Given the description of an element on the screen output the (x, y) to click on. 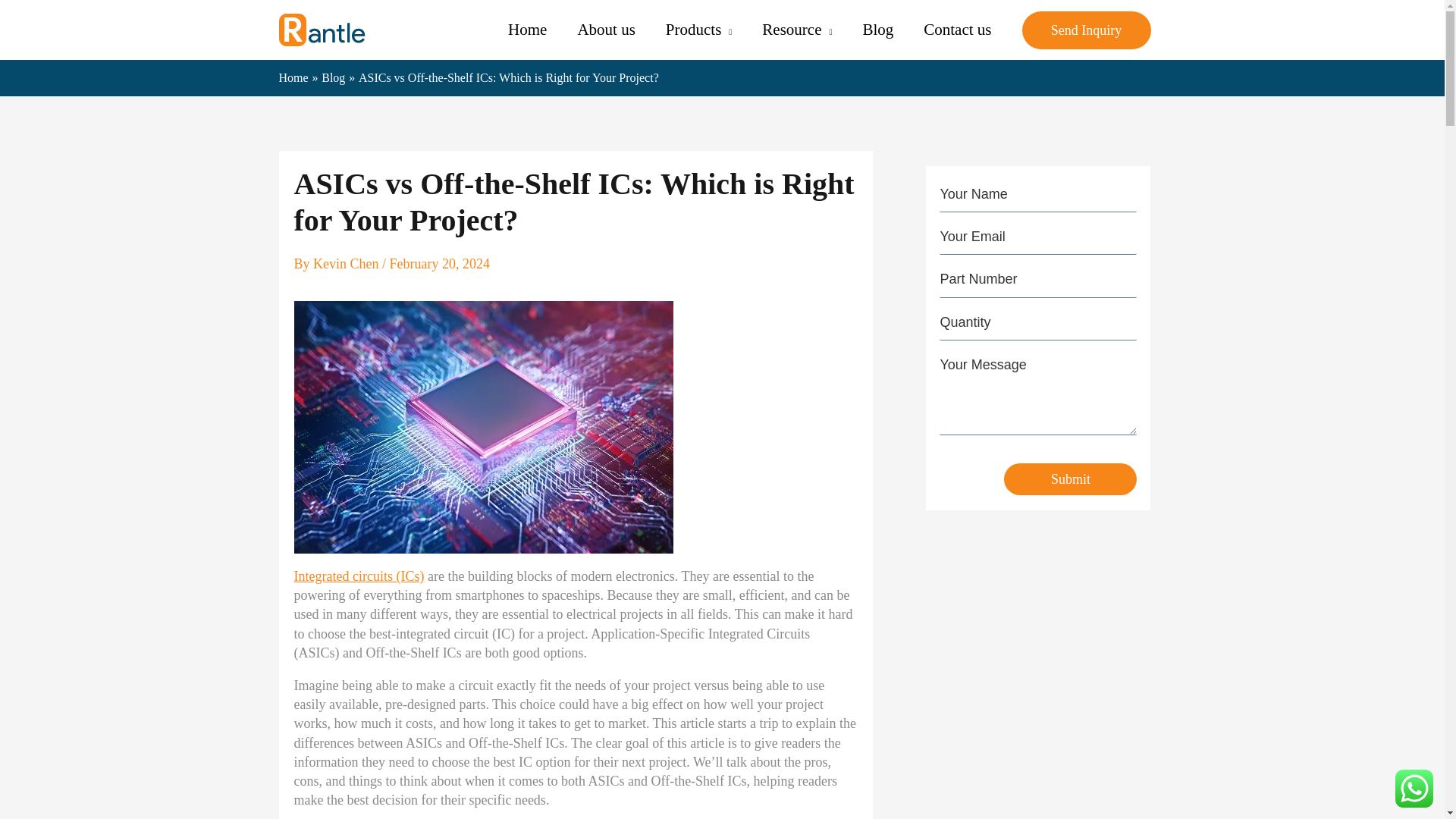
View all posts by Kevin Chen (347, 263)
Submit (1070, 479)
Products (698, 29)
About us (605, 29)
Home (527, 29)
